Given the description of an element on the screen output the (x, y) to click on. 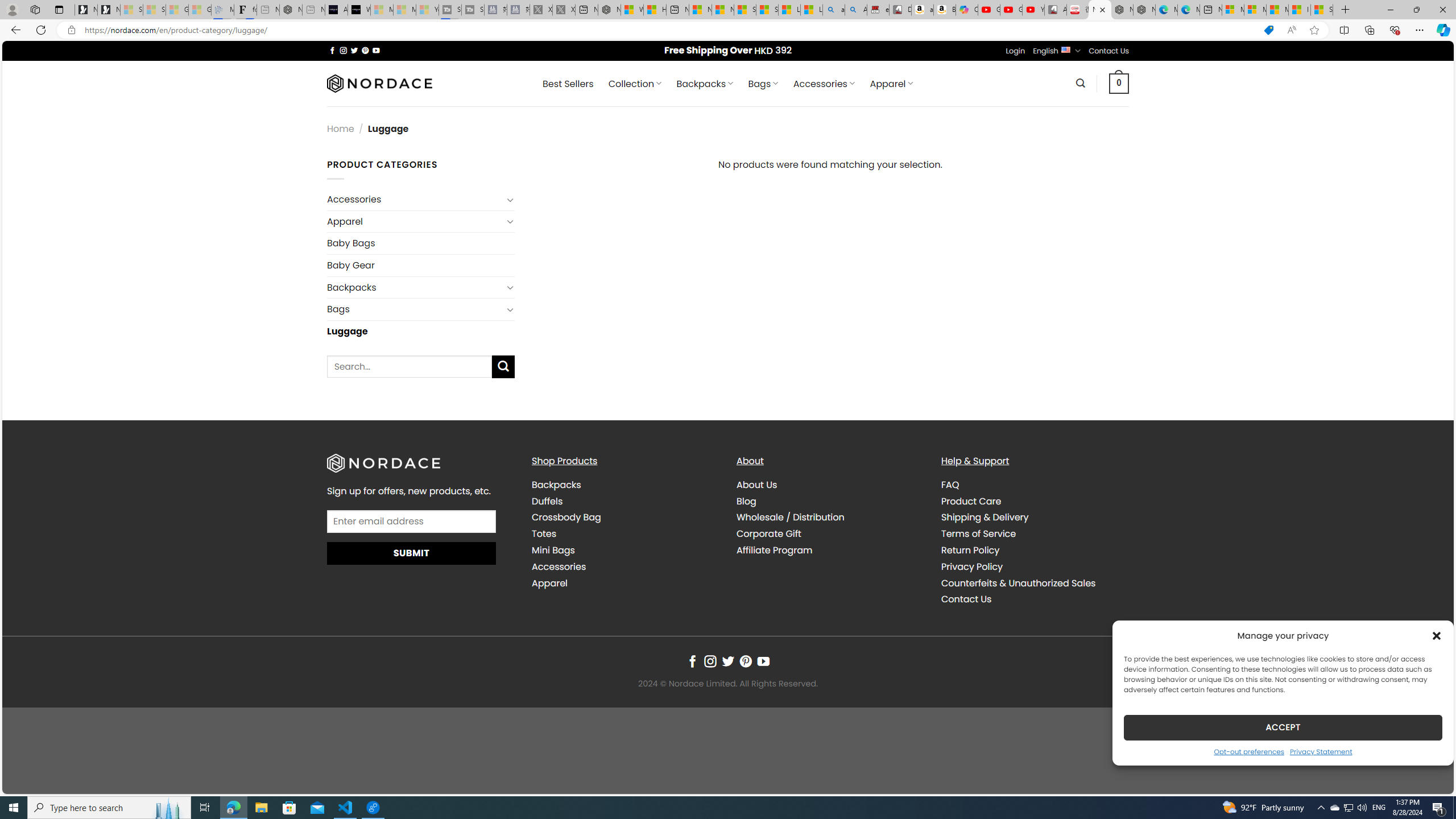
Opt-out preferences (1249, 750)
Gloom - YouTube (1010, 9)
Login (1015, 50)
All Cubot phones (1055, 9)
Class: cmplz-close (1436, 635)
  0   (1118, 83)
English (1065, 49)
Return Policy (1034, 549)
Go to top (1430, 777)
